Given the description of an element on the screen output the (x, y) to click on. 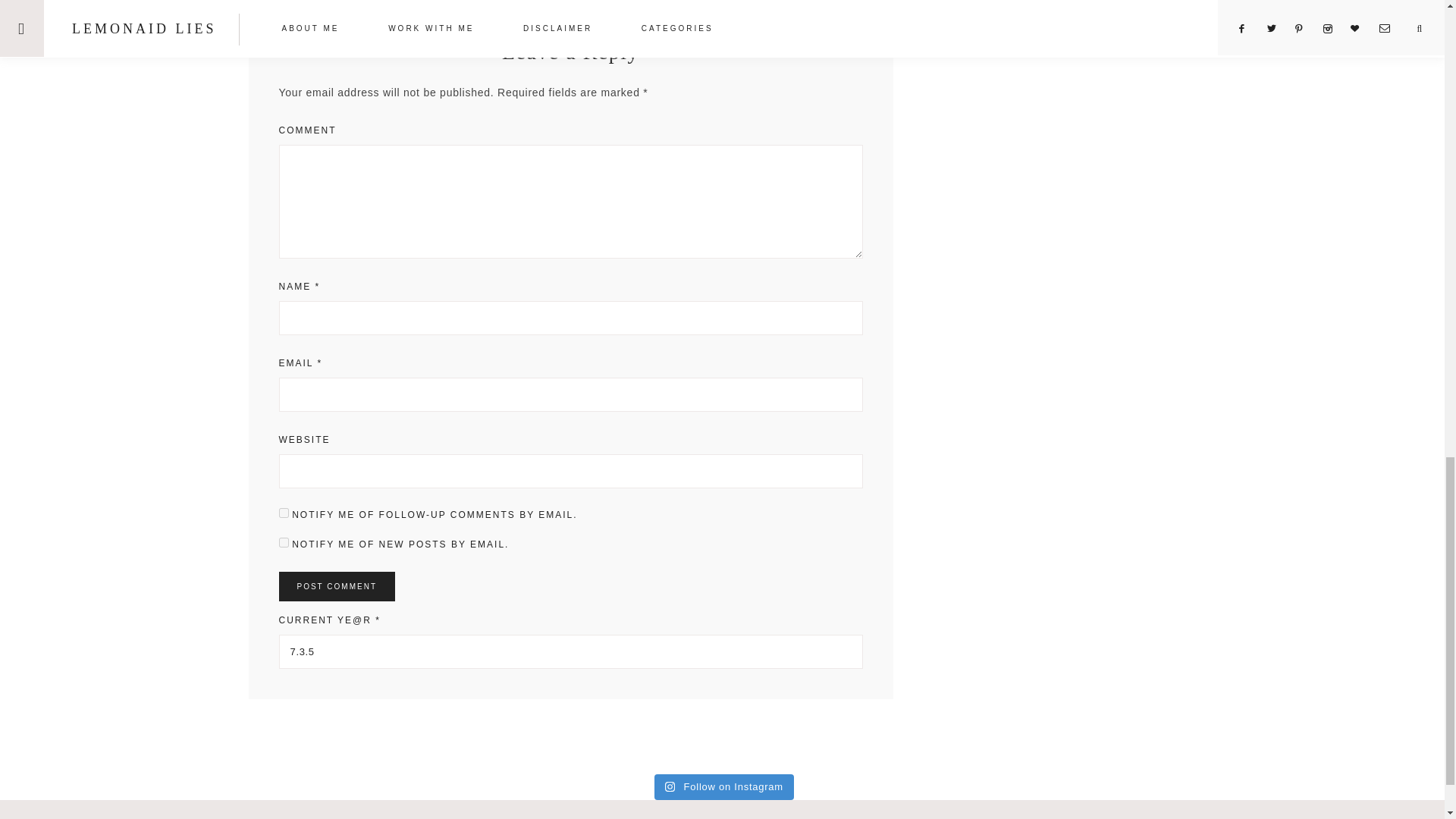
Post Comment (336, 586)
subscribe (283, 542)
7.3.5 (571, 651)
subscribe (283, 512)
